Given the description of an element on the screen output the (x, y) to click on. 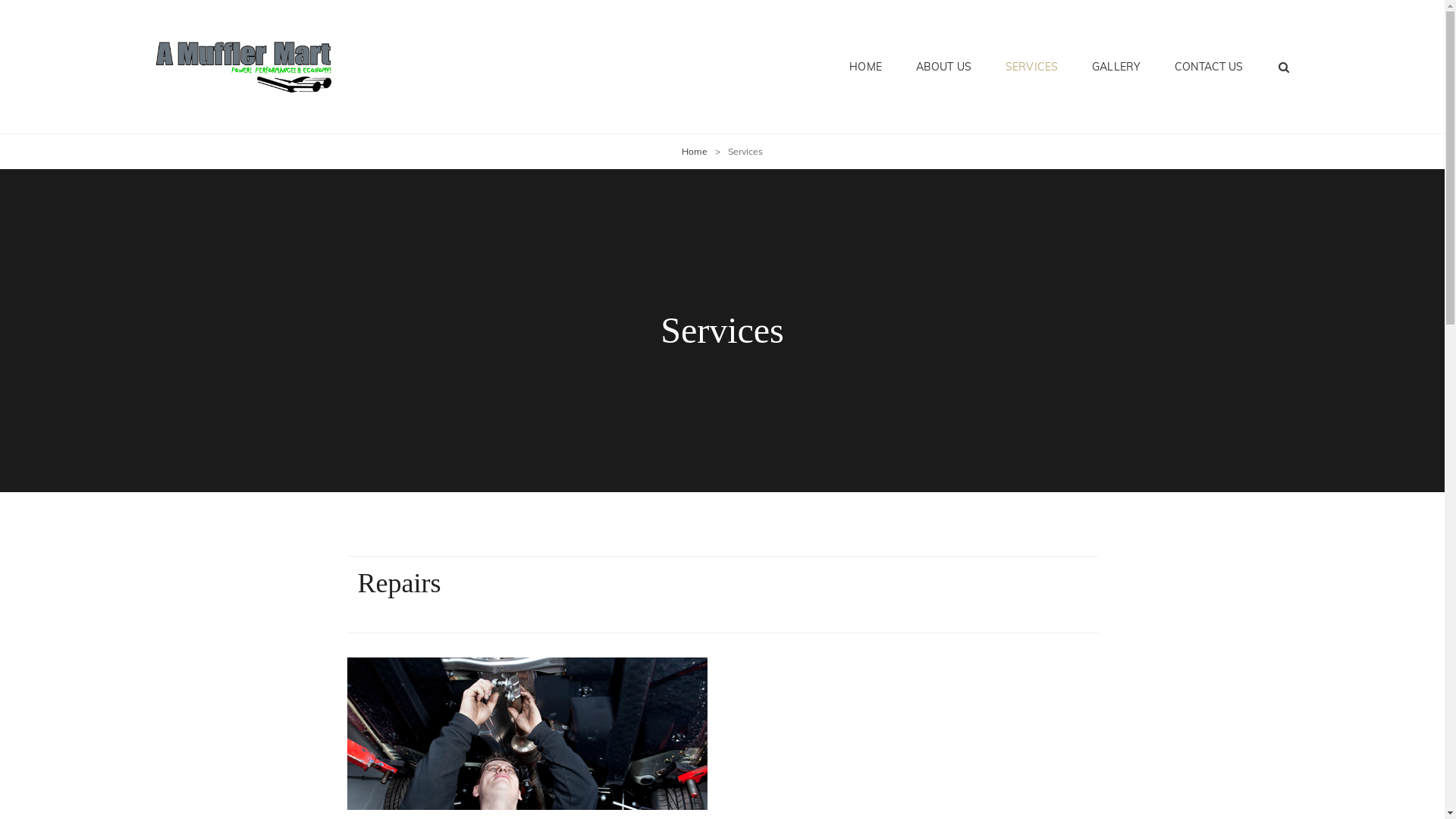
ABOUT US Element type: text (943, 66)
HOME Element type: text (865, 66)
SERVICES Element type: text (1031, 66)
SEARCH Element type: text (1283, 66)
Home Element type: text (694, 150)
A MUFFLERMART Element type: text (455, 79)
CONTACT US Element type: text (1208, 66)
GALLERY Element type: text (1115, 66)
